Given the description of an element on the screen output the (x, y) to click on. 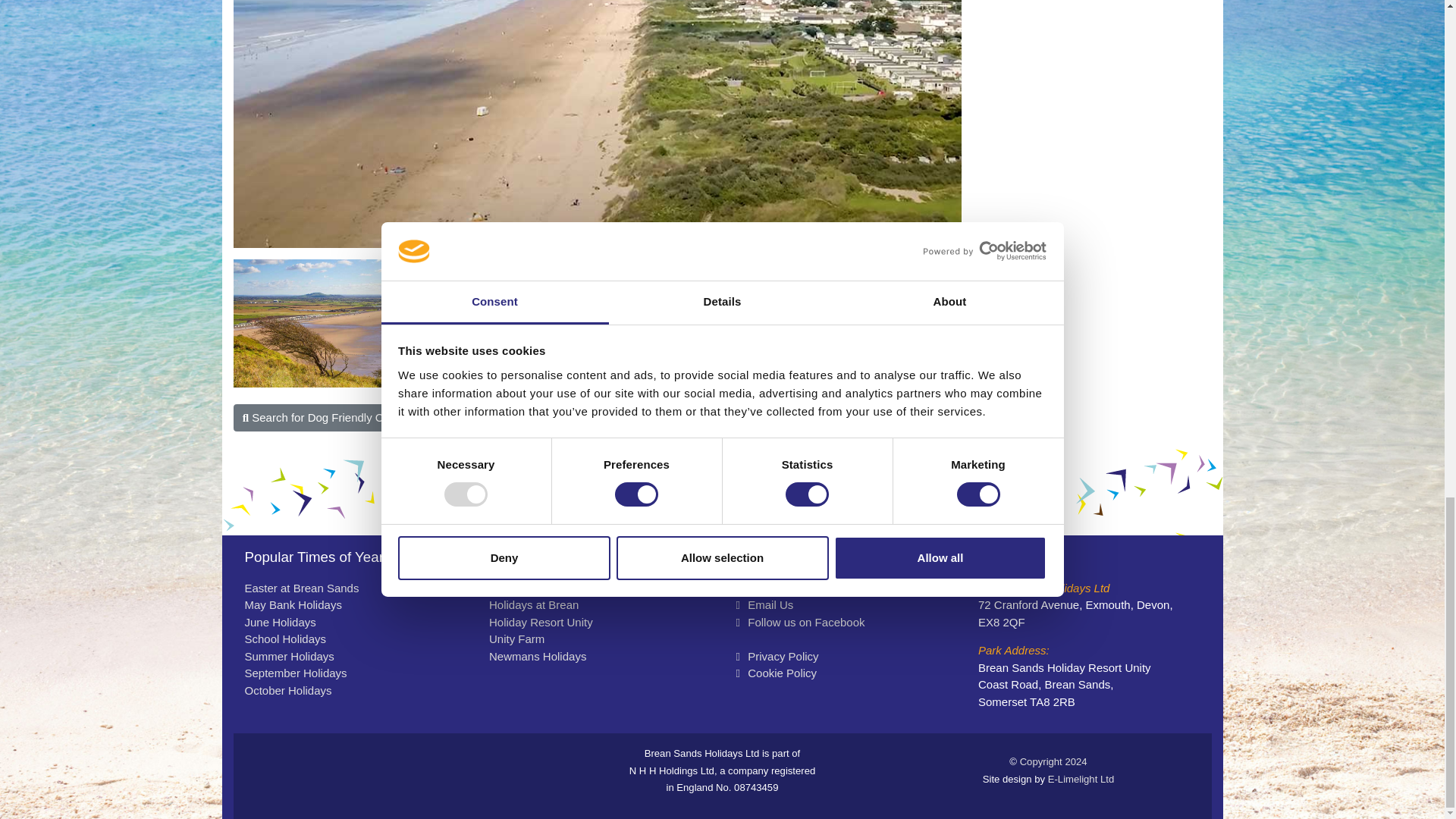
Dog Friendly (346, 323)
Privacy Policy (775, 656)
Cookie Policy (774, 672)
Dog Friendly (846, 323)
Email Us! (763, 604)
Call Us! (777, 587)
Follow us on Facebook (740, 622)
